Given the description of an element on the screen output the (x, y) to click on. 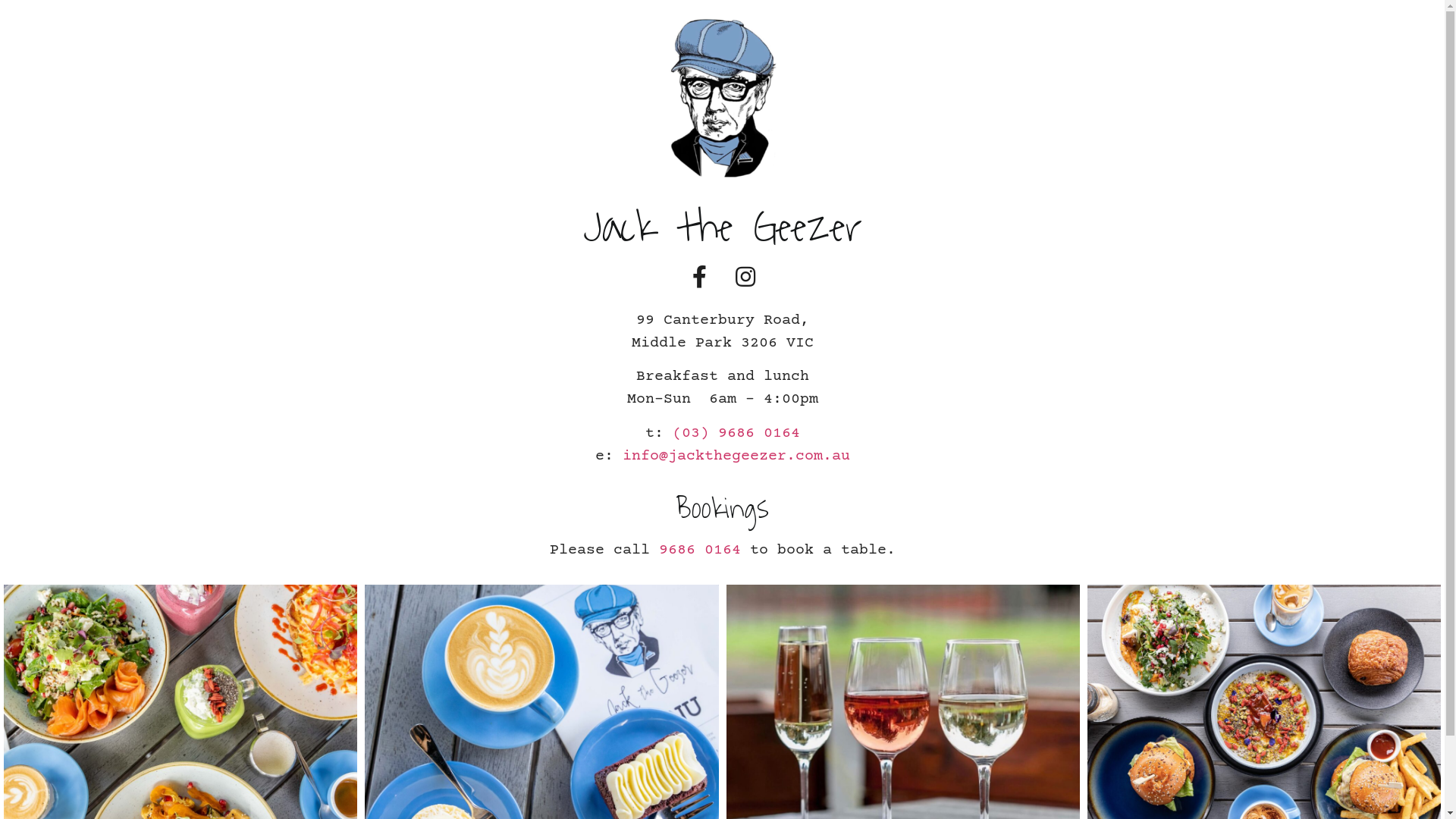
9686 0164 Element type: text (699, 549)
info@jackthegeezer.com.au Element type: text (735, 455)
(03) 9686 0164 Element type: text (735, 433)
